Given the description of an element on the screen output the (x, y) to click on. 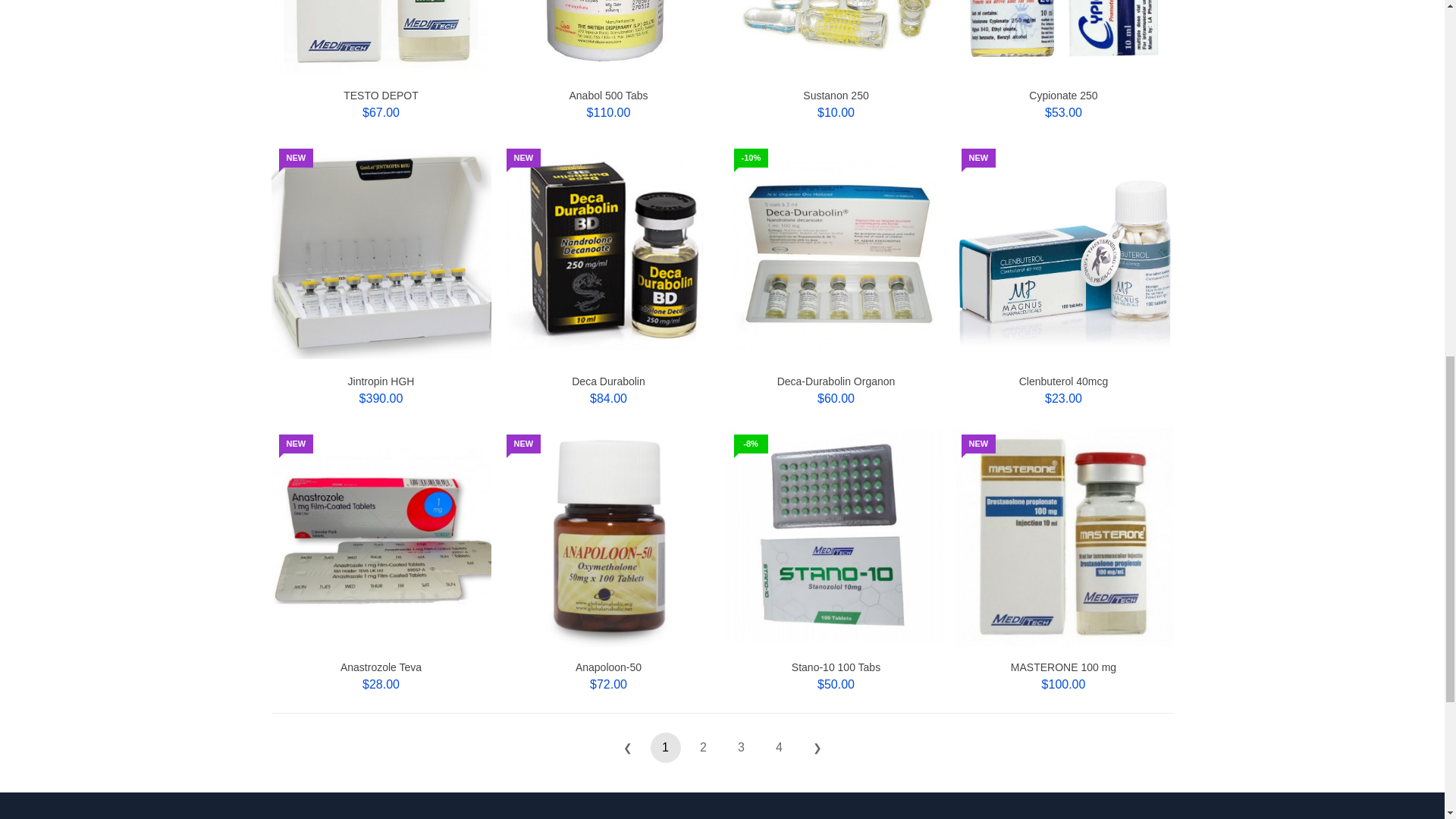
Anabol 500 Tabs (608, 95)
TESTO DEPOT (381, 95)
Sustanon 250 (835, 95)
Cypionate 250 (1063, 95)
next page (817, 747)
previous page (627, 747)
